Given the description of an element on the screen output the (x, y) to click on. 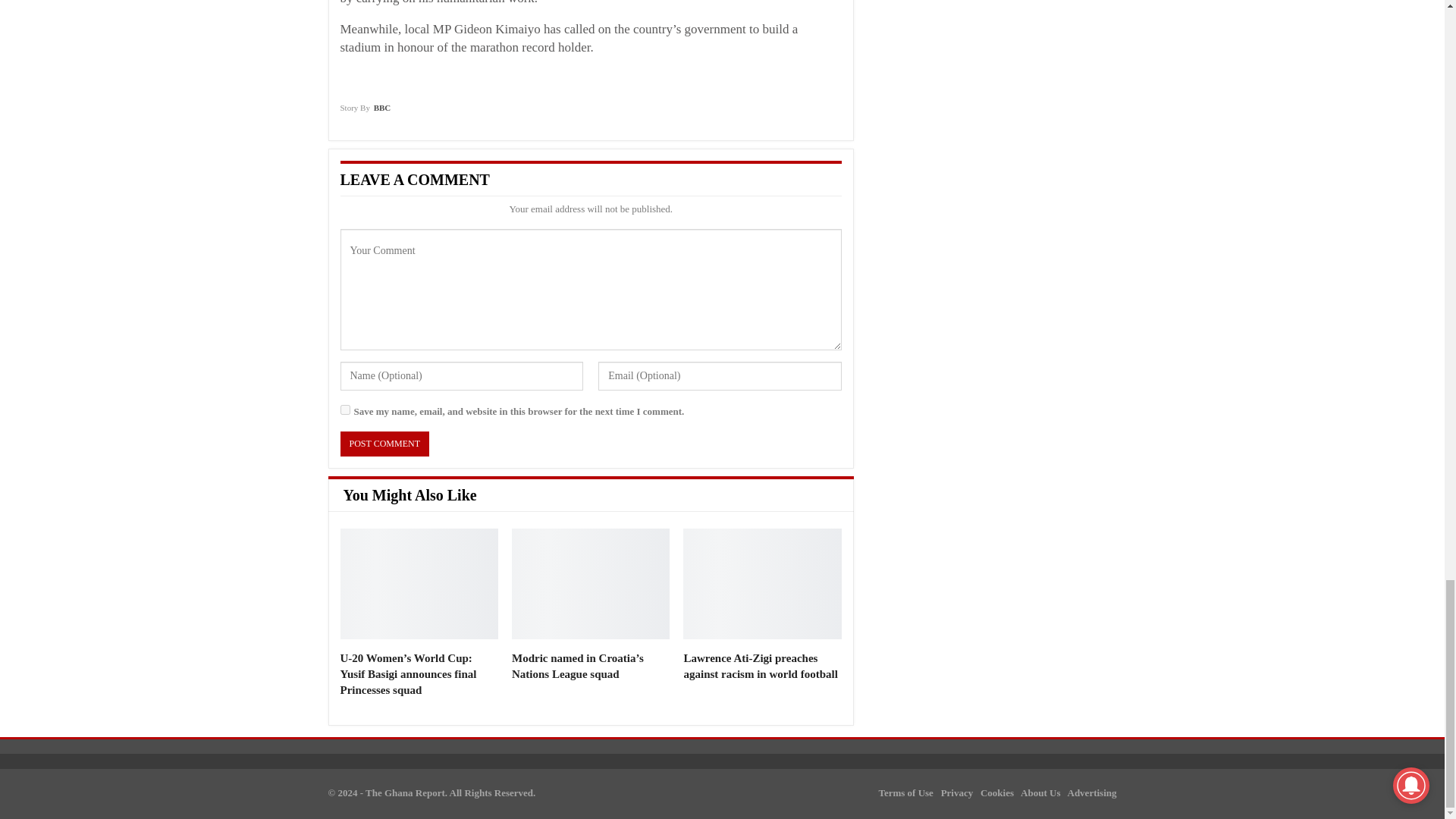
Lawrence Ati-Zigi preaches against racism in world football (761, 583)
Lawrence Ati-Zigi preaches against racism in world football (759, 665)
Lawrence Ati-Zigi preaches against racism in world football (759, 665)
Story By BBC (364, 112)
Browse Author Articles (364, 112)
Post Comment (383, 443)
yes (344, 409)
Post Comment (383, 443)
